Given the description of an element on the screen output the (x, y) to click on. 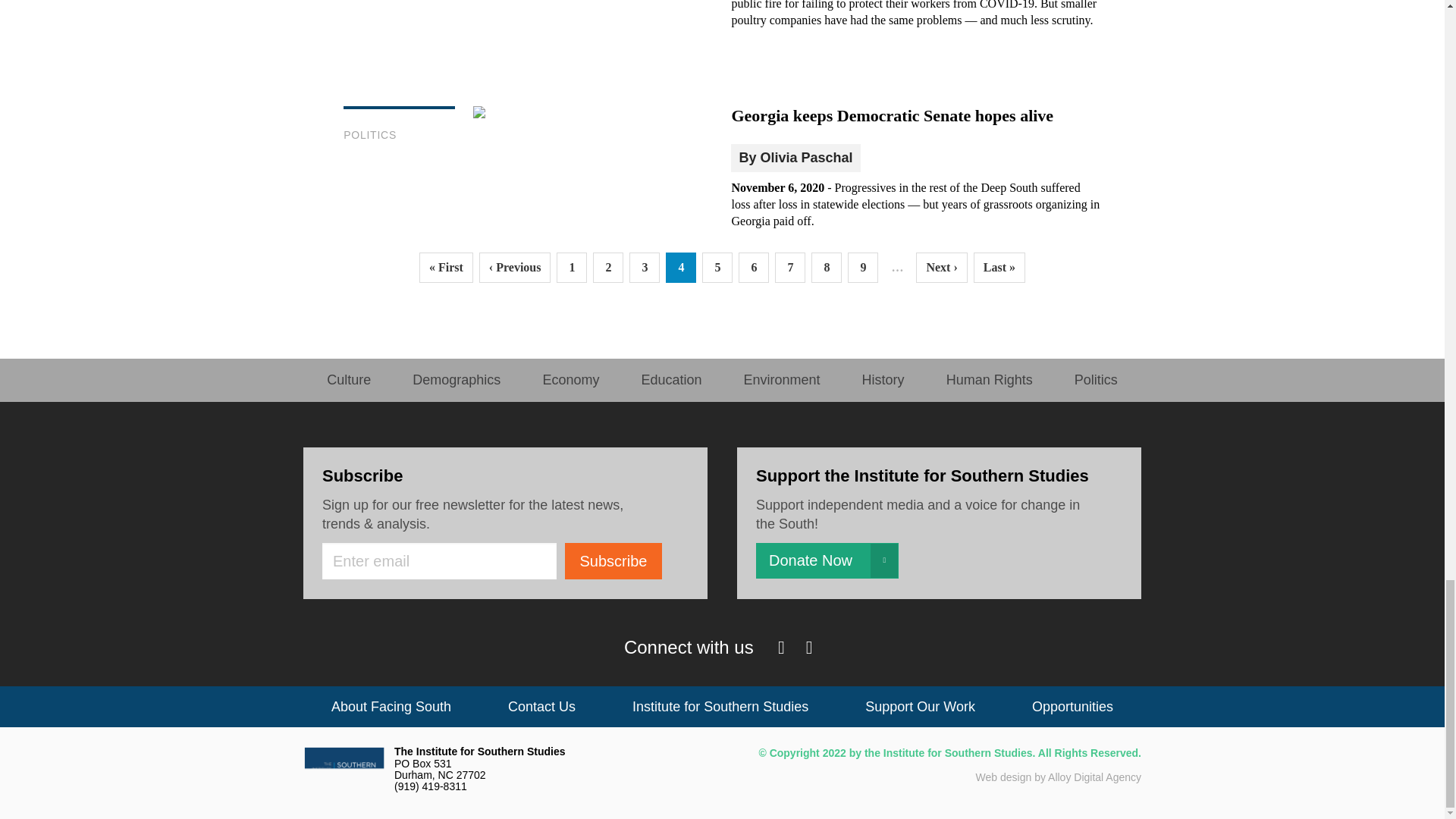
Go to page 2 (607, 267)
Go to first page (446, 267)
Go to last page (999, 267)
Go to previous page (515, 267)
Go to page 6 (753, 267)
Go to page 7 (789, 267)
Subscribe (613, 560)
Go to page 8 (825, 267)
Current page (680, 267)
Go to page 3 (643, 267)
